Given the description of an element on the screen output the (x, y) to click on. 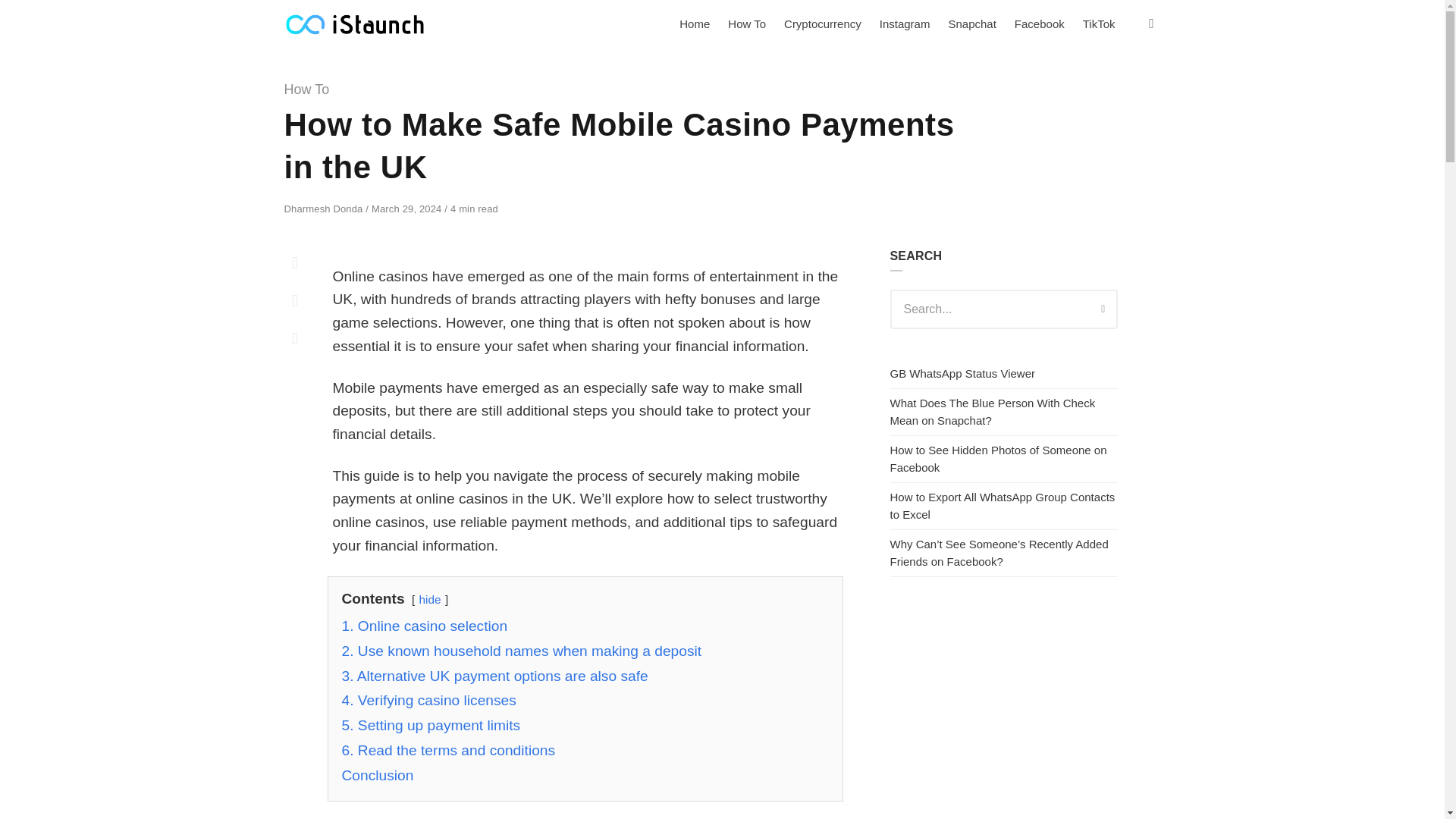
3. Alternative UK payment options are also safe (493, 675)
Snapchat (971, 24)
hide (430, 599)
Conclusion (376, 774)
1. Online casino selection (423, 625)
How To (306, 89)
Instagram (904, 24)
How To (746, 24)
March 29, 2024 (407, 208)
4. Verifying casino licenses (427, 700)
